Given the description of an element on the screen output the (x, y) to click on. 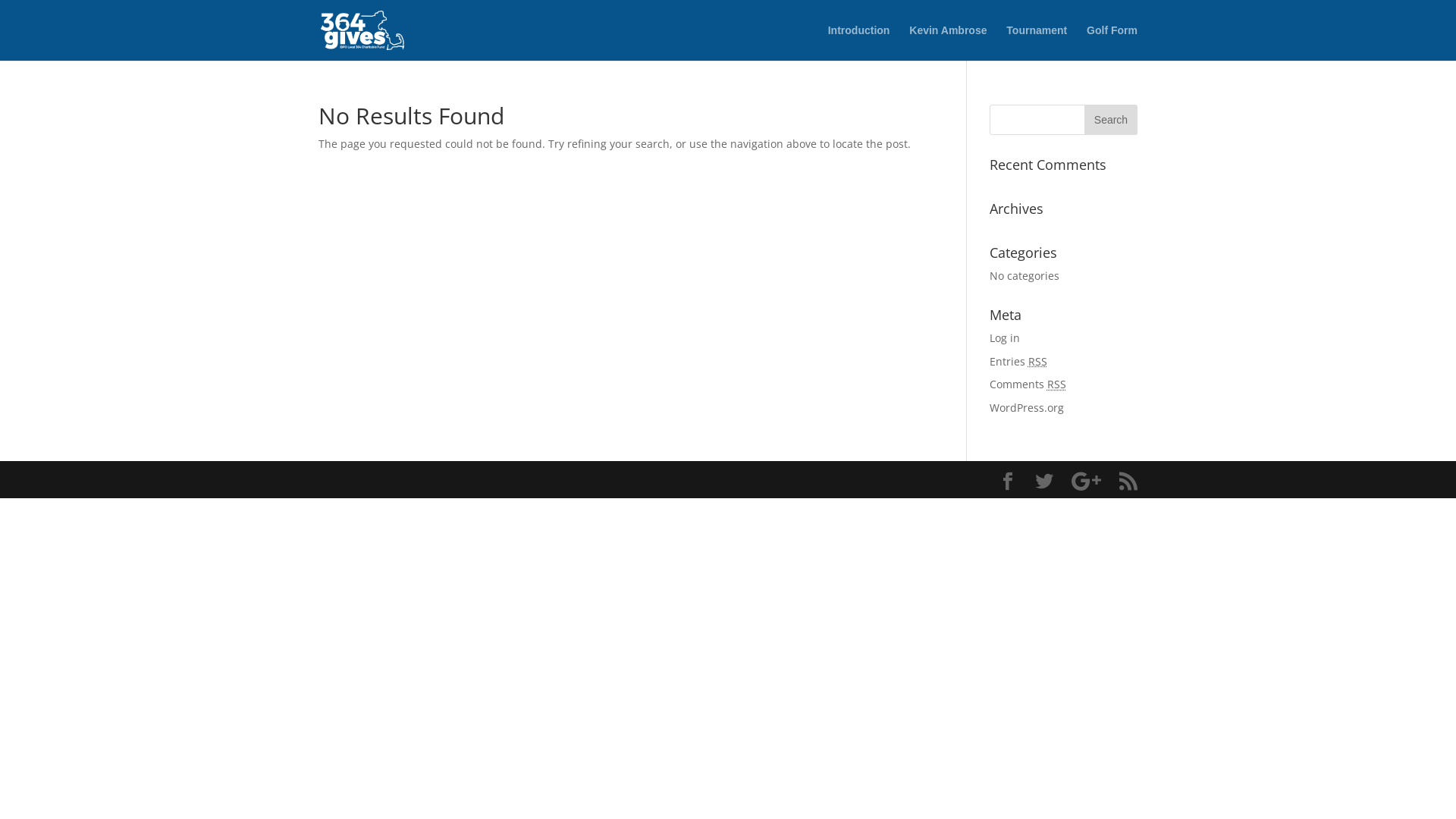
Introduction Element type: text (859, 42)
Kevin Ambrose Element type: text (947, 42)
Entries RSS Element type: text (1018, 361)
Comments RSS Element type: text (1027, 383)
WordPress.org Element type: text (1026, 407)
Tournament Element type: text (1036, 42)
Golf Form Element type: text (1111, 42)
Search Element type: text (1110, 119)
Log in Element type: text (1004, 337)
